Given the description of an element on the screen output the (x, y) to click on. 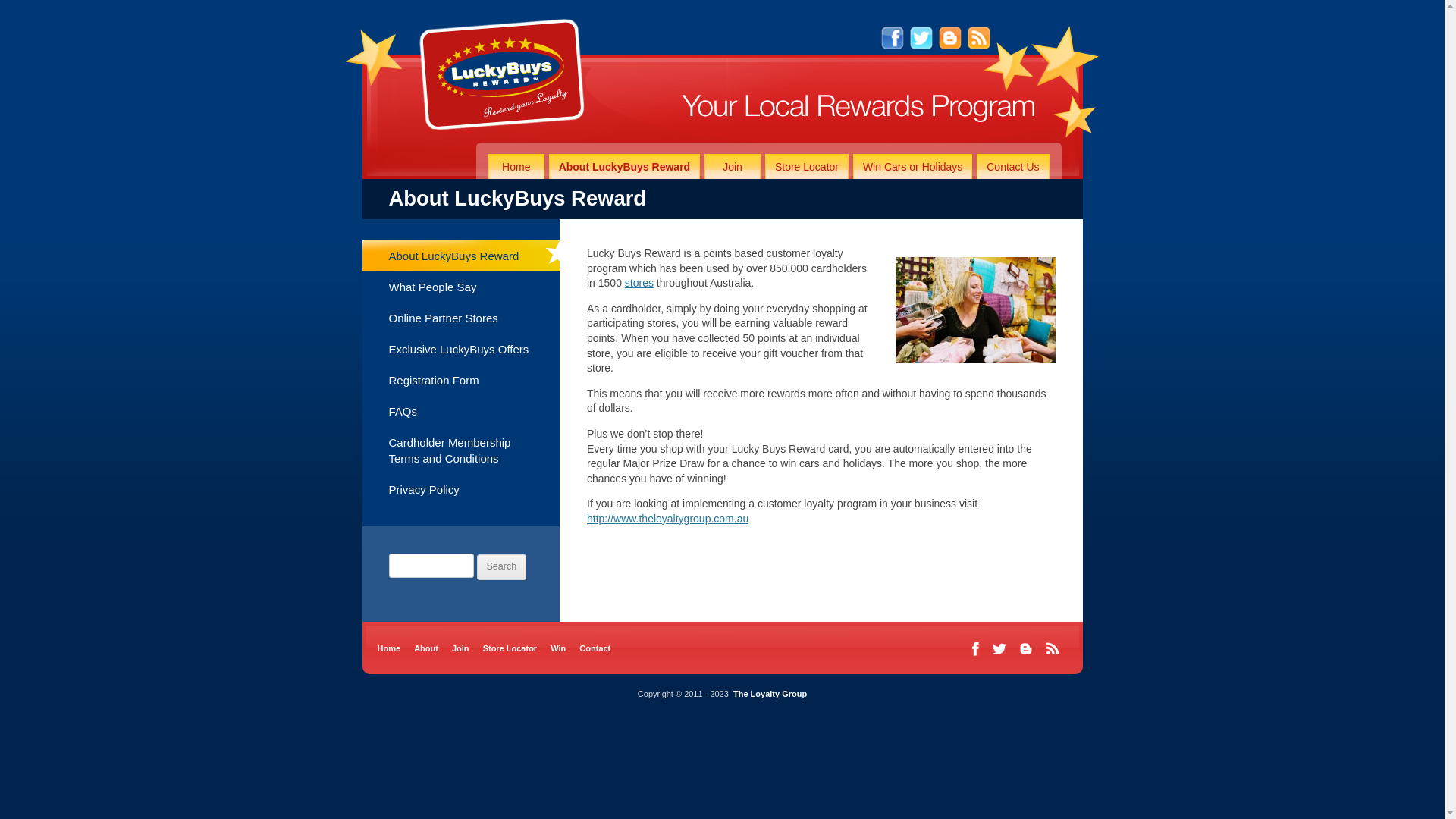
Win Element type: text (557, 647)
Contact Element type: text (594, 647)
Contact Us Element type: text (1012, 165)
Home Element type: text (516, 165)
Win Cars or Holidays Element type: text (912, 165)
Privacy Policy Element type: text (460, 489)
Join Element type: text (732, 165)
What People Say Element type: text (460, 286)
About Element type: text (426, 647)
http://www.theloyaltygroup.com.au Element type: text (667, 518)
The Loyalty Group Element type: text (769, 693)
Join Element type: text (460, 647)
Home Element type: text (389, 647)
stores Element type: text (638, 282)
Store Locator Element type: text (510, 647)
FAQs Element type: text (460, 410)
Registration Form Element type: text (460, 379)
Search Element type: text (501, 567)
Skip to content Element type: text (1061, 142)
Online Partner Stores Element type: text (460, 317)
Exclusive LuckyBuys Offers Element type: text (460, 348)
About LuckyBuys Reward Element type: text (624, 165)
Cardholder Membership Terms and Conditions Element type: text (460, 449)
LuckyBuys Reward Element type: text (390, 147)
Store Locator Element type: text (806, 165)
About LuckyBuys Reward Element type: text (460, 255)
